Given the description of an element on the screen output the (x, y) to click on. 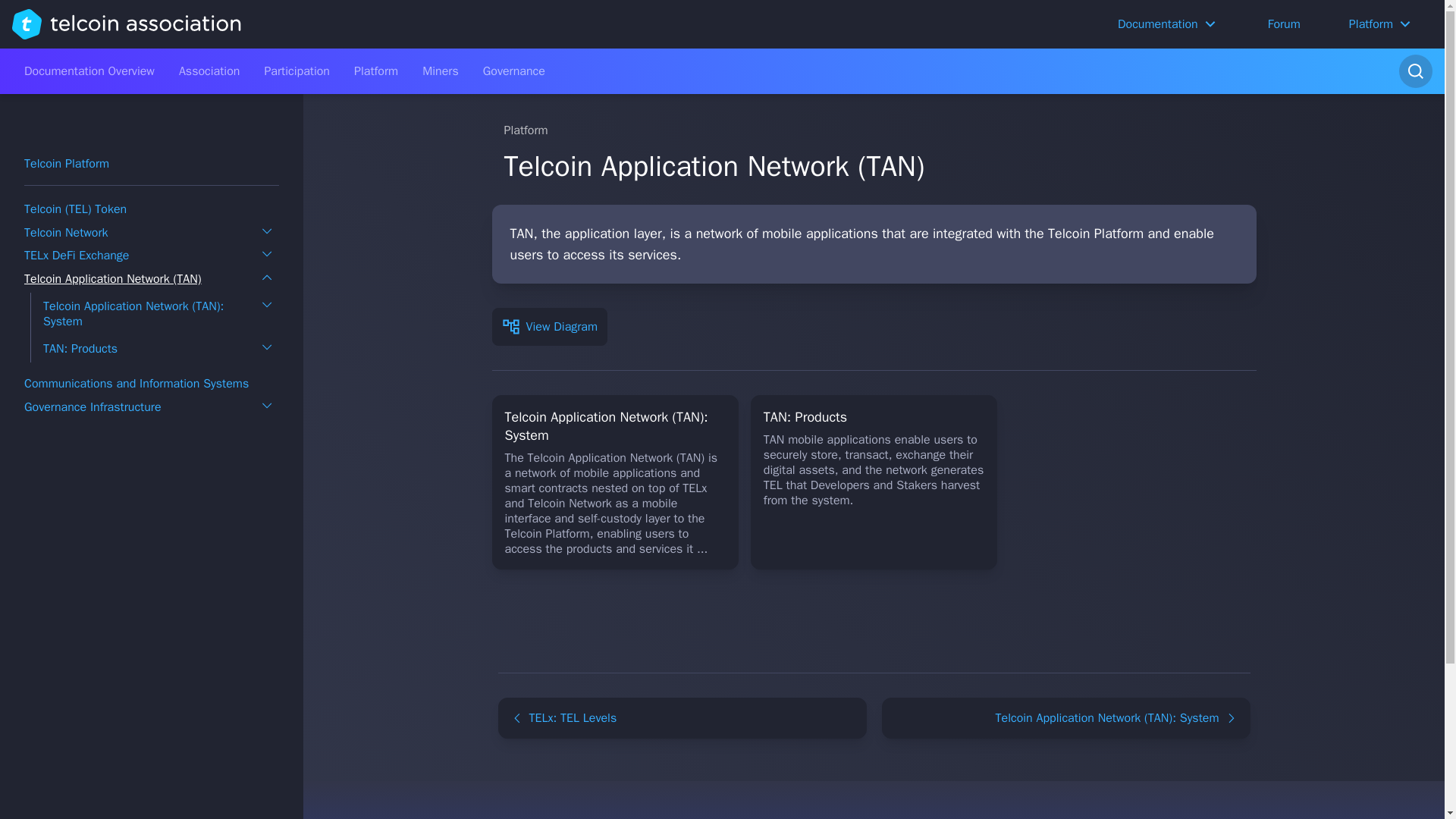
Association (209, 71)
Participation (296, 71)
Telcoin Network (65, 232)
Miners (440, 71)
Communications and Information Systems (136, 383)
TAN: Products (80, 348)
TELx DeFi Exchange (76, 255)
Governance (513, 71)
Telcoin Platform (66, 163)
Platform (376, 71)
TELx: TEL Levels (681, 717)
Documentation Overview (89, 71)
Governance Infrastructure (92, 406)
